Given the description of an element on the screen output the (x, y) to click on. 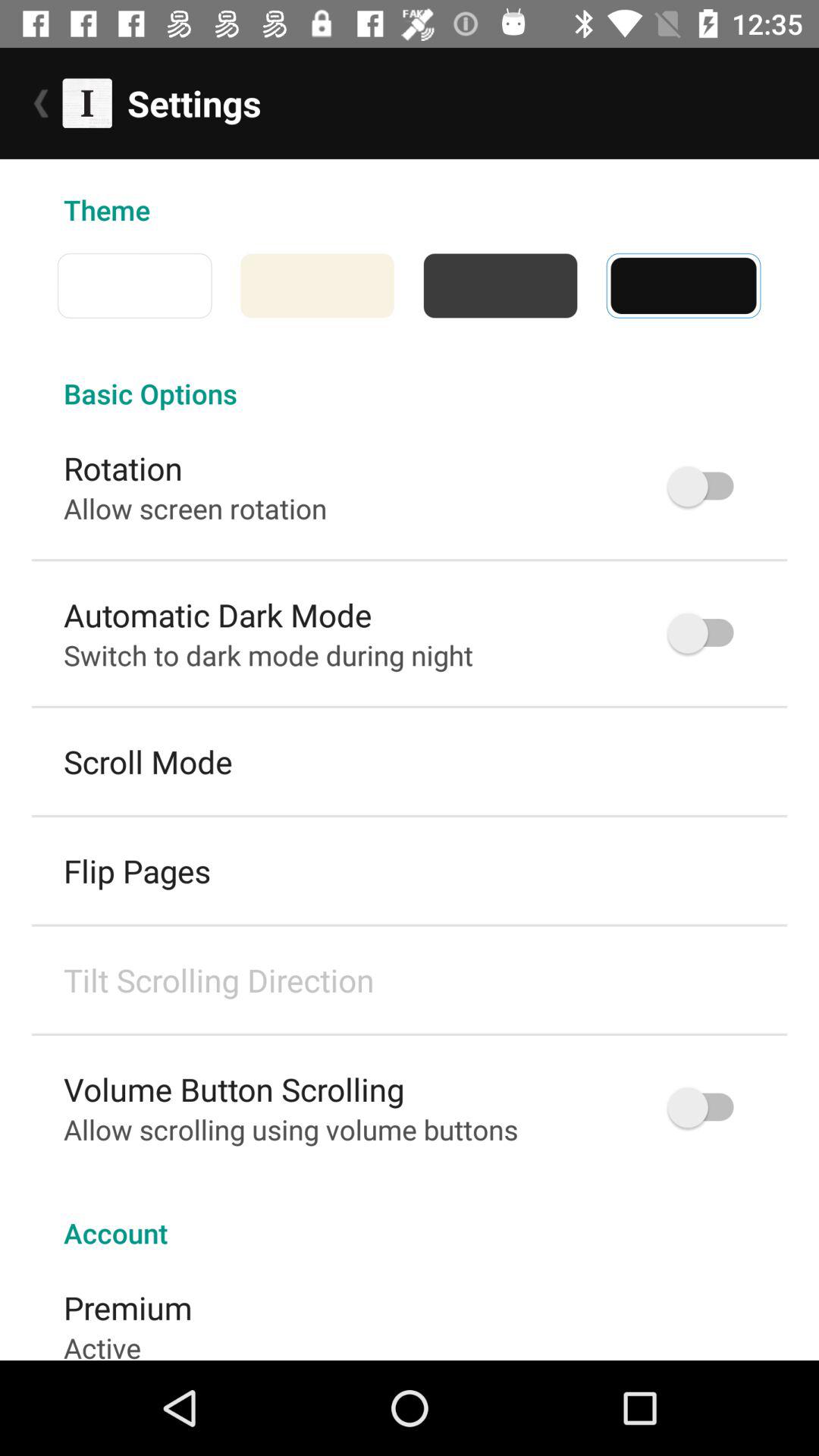
launch the icon below the theme item (43, 285)
